Given the description of an element on the screen output the (x, y) to click on. 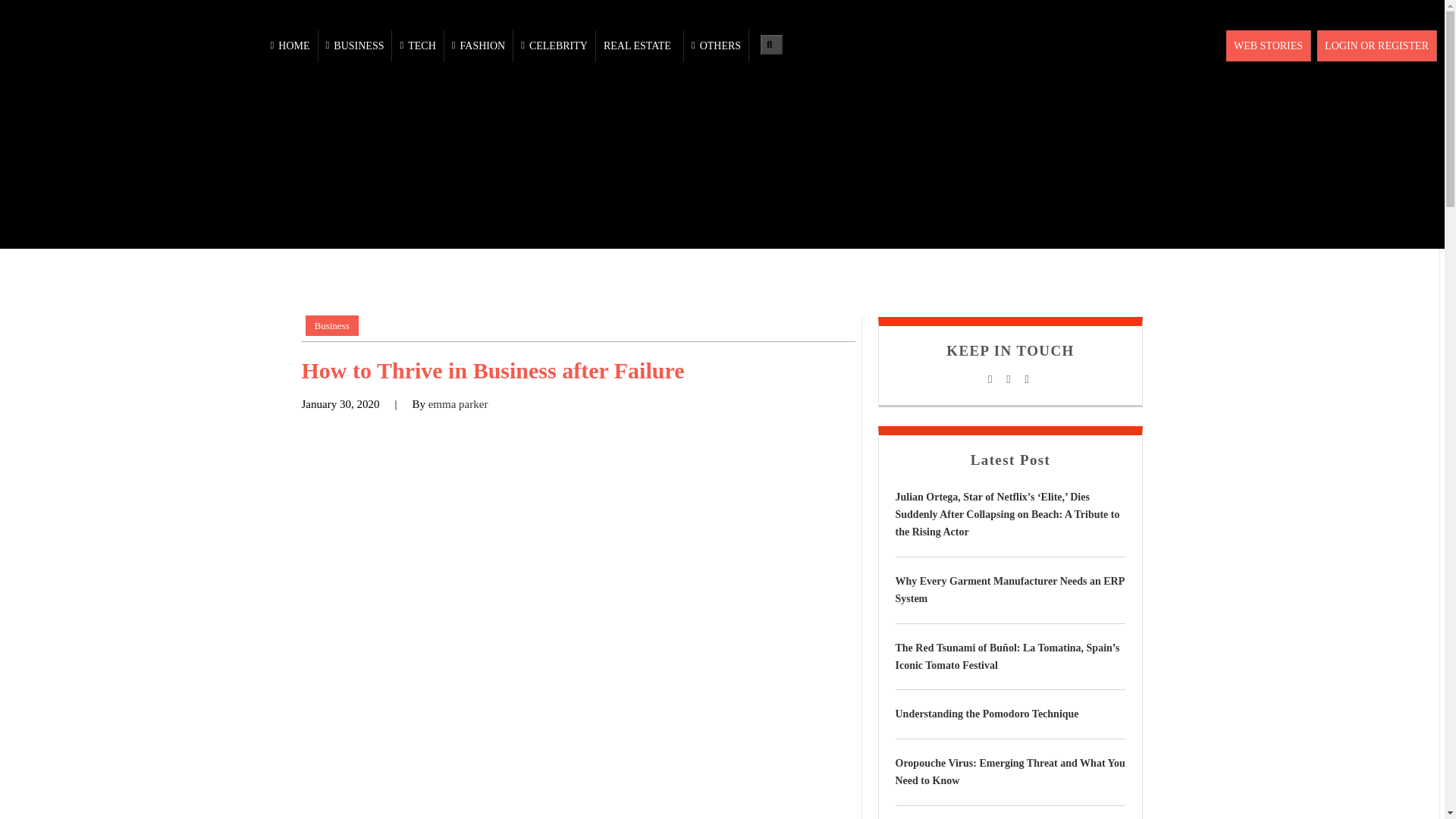
BUSINESS (355, 45)
Posts by emma parker (457, 404)
HOME (290, 45)
September 13, 2017 (340, 404)
OTHERS (716, 45)
TECH (417, 45)
FASHION (478, 45)
CELEBRITY (554, 45)
REAL ESTATE (639, 45)
